Given the description of an element on the screen output the (x, y) to click on. 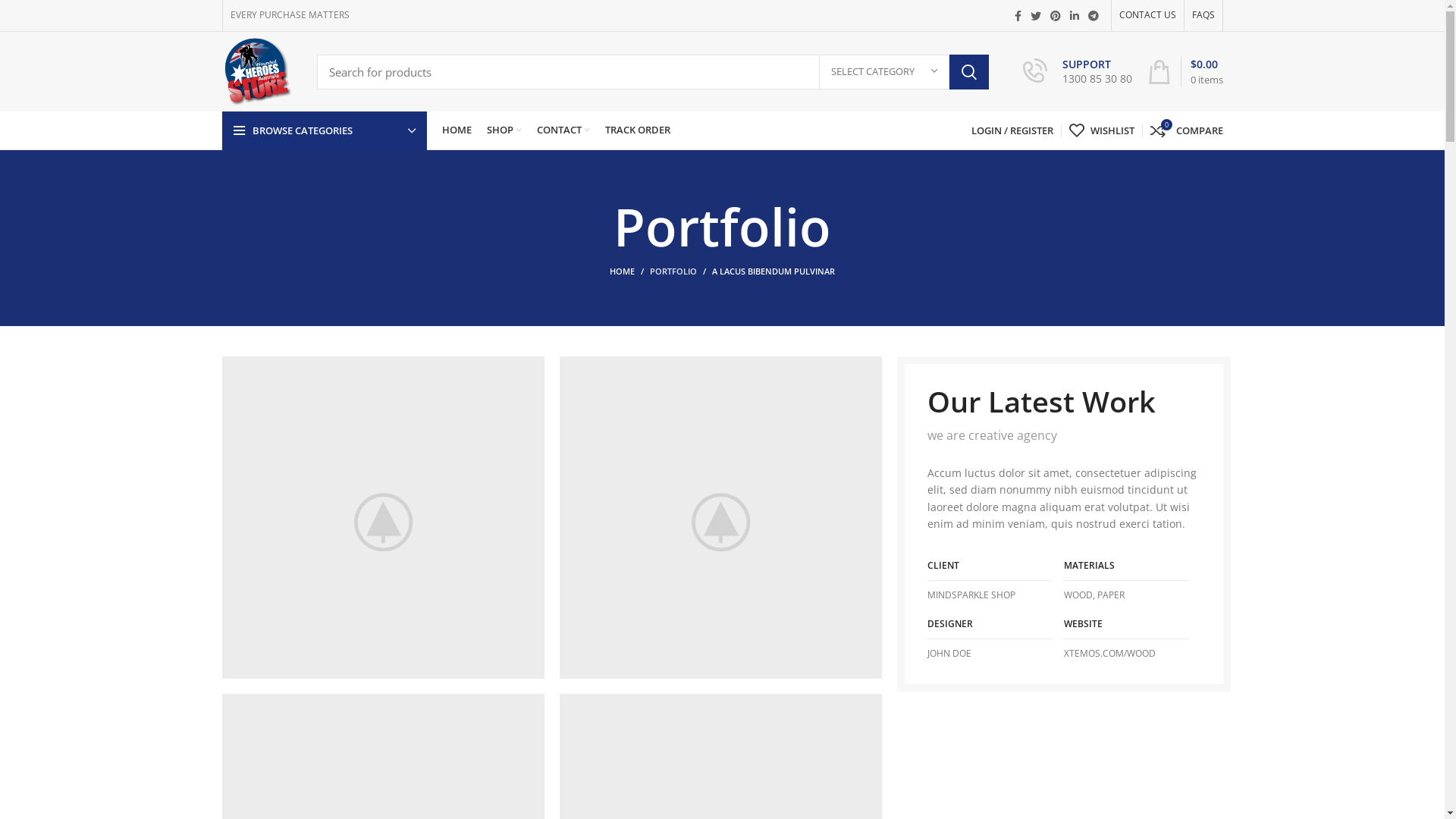
SELECT CATEGORY Element type: text (884, 70)
FAQS Element type: text (1203, 15)
wood-gallery-placeholder-4 Element type: hover (720, 517)
TRACK ORDER Element type: text (637, 130)
0
COMPARE Element type: text (1186, 130)
SHOP Element type: text (504, 130)
0 items
$0.00 Element type: text (1184, 71)
HOME Element type: text (629, 271)
WISHLIST Element type: text (1101, 130)
HOME Element type: text (455, 130)
LOGIN / REGISTER Element type: text (1011, 130)
CONTACT Element type: text (563, 130)
PORTFOLIO Element type: text (672, 270)
CONTACT US Element type: text (1147, 15)
Search for products Element type: hover (652, 71)
SEARCH Element type: text (968, 71)
SUPPORT
1300 85 30 80 Element type: text (1076, 71)
wood-portfolio-placeholder Element type: hover (382, 517)
